Given the description of an element on the screen output the (x, y) to click on. 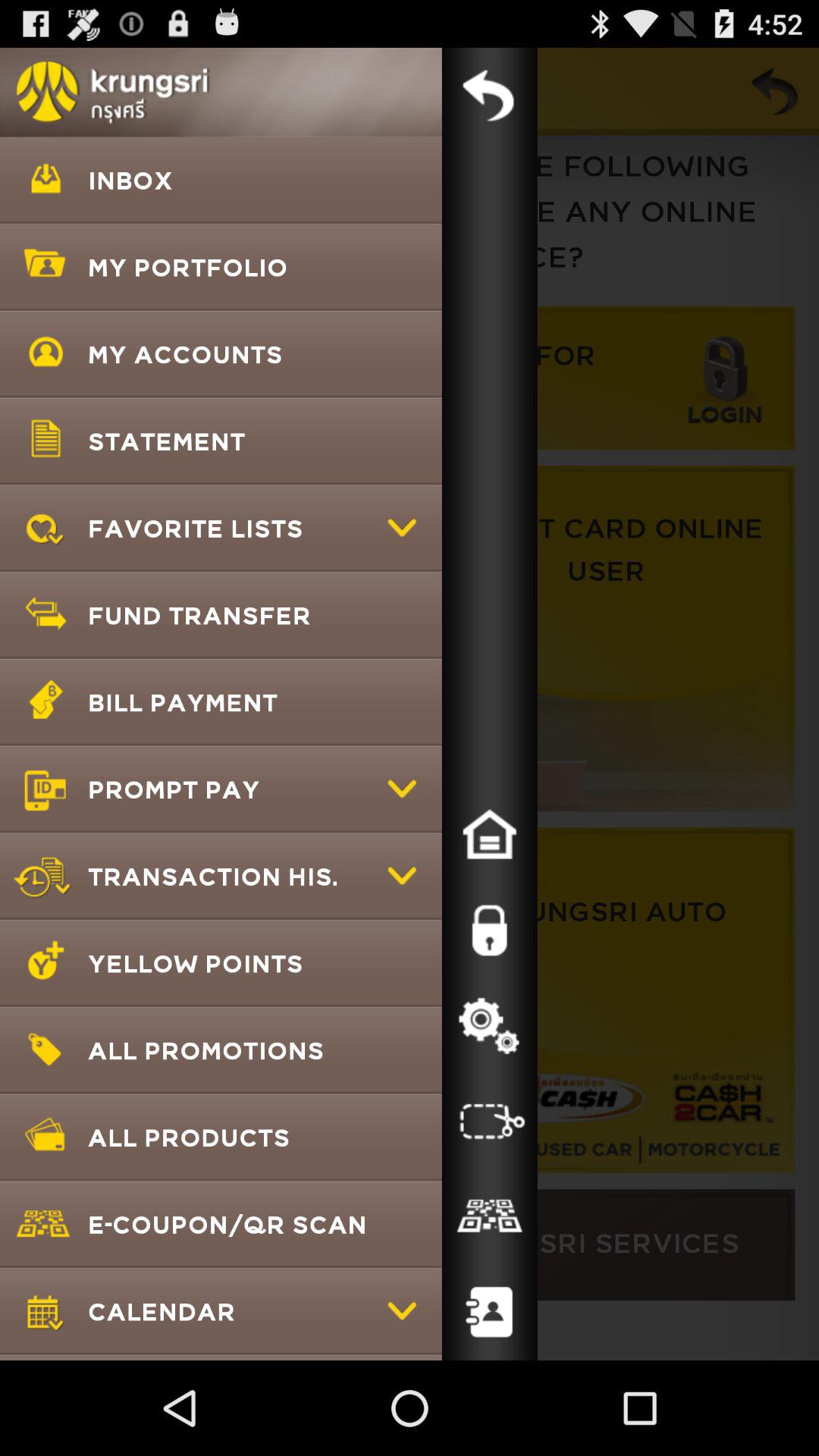
view qr code (489, 1216)
